Given the description of an element on the screen output the (x, y) to click on. 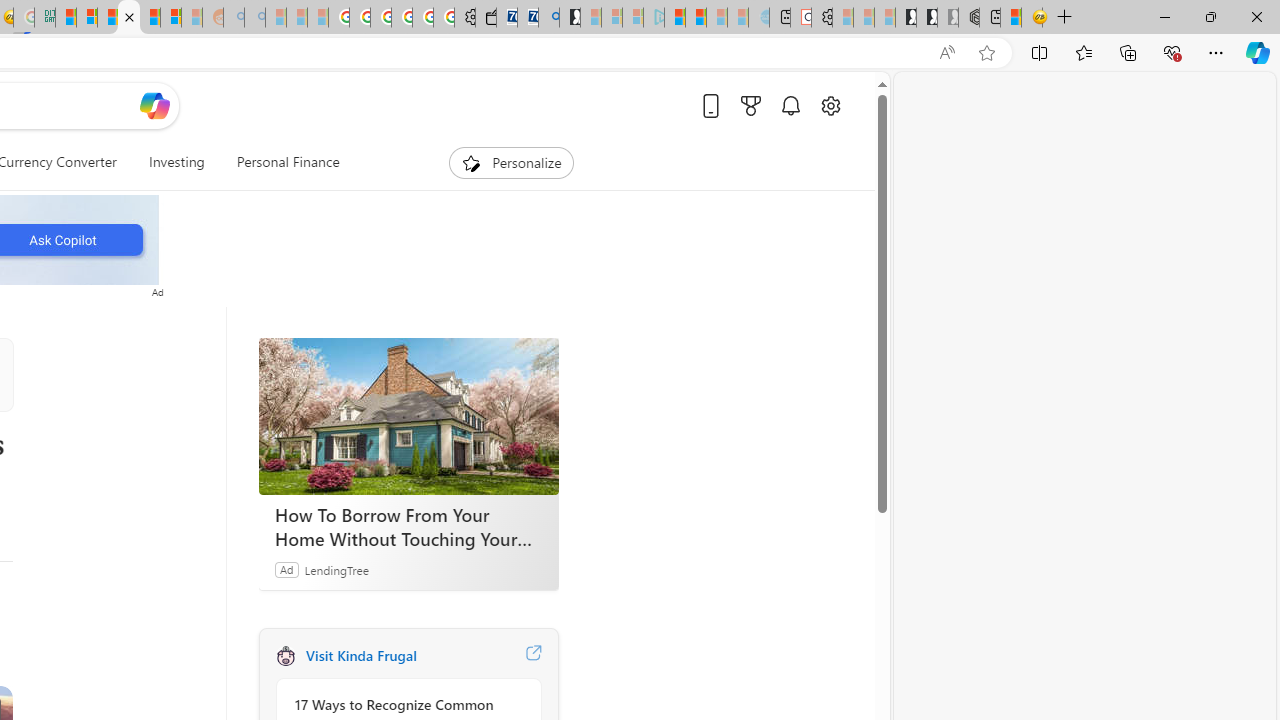
Bing Real Estate - Home sales and rental listings (548, 17)
